Given the description of an element on the screen output the (x, y) to click on. 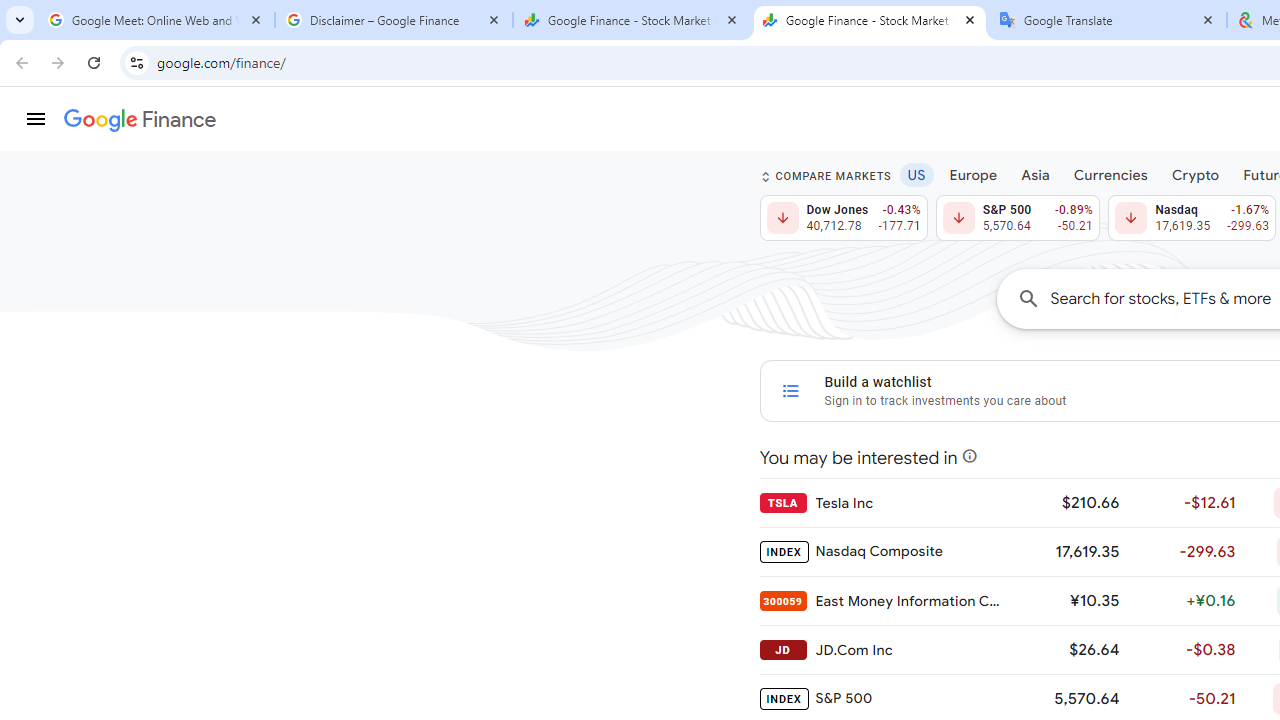
Crypto (1195, 174)
Nasdaq 17,619.35 Down by 1.67% -299.63 (1192, 218)
S&P 500 5,570.64 Down by 0.89% -50.21 (1017, 218)
Europe (973, 174)
Dow Jones 40,712.78 Down by 0.43% -177.71 (843, 218)
Asia (1035, 174)
